Given the description of an element on the screen output the (x, y) to click on. 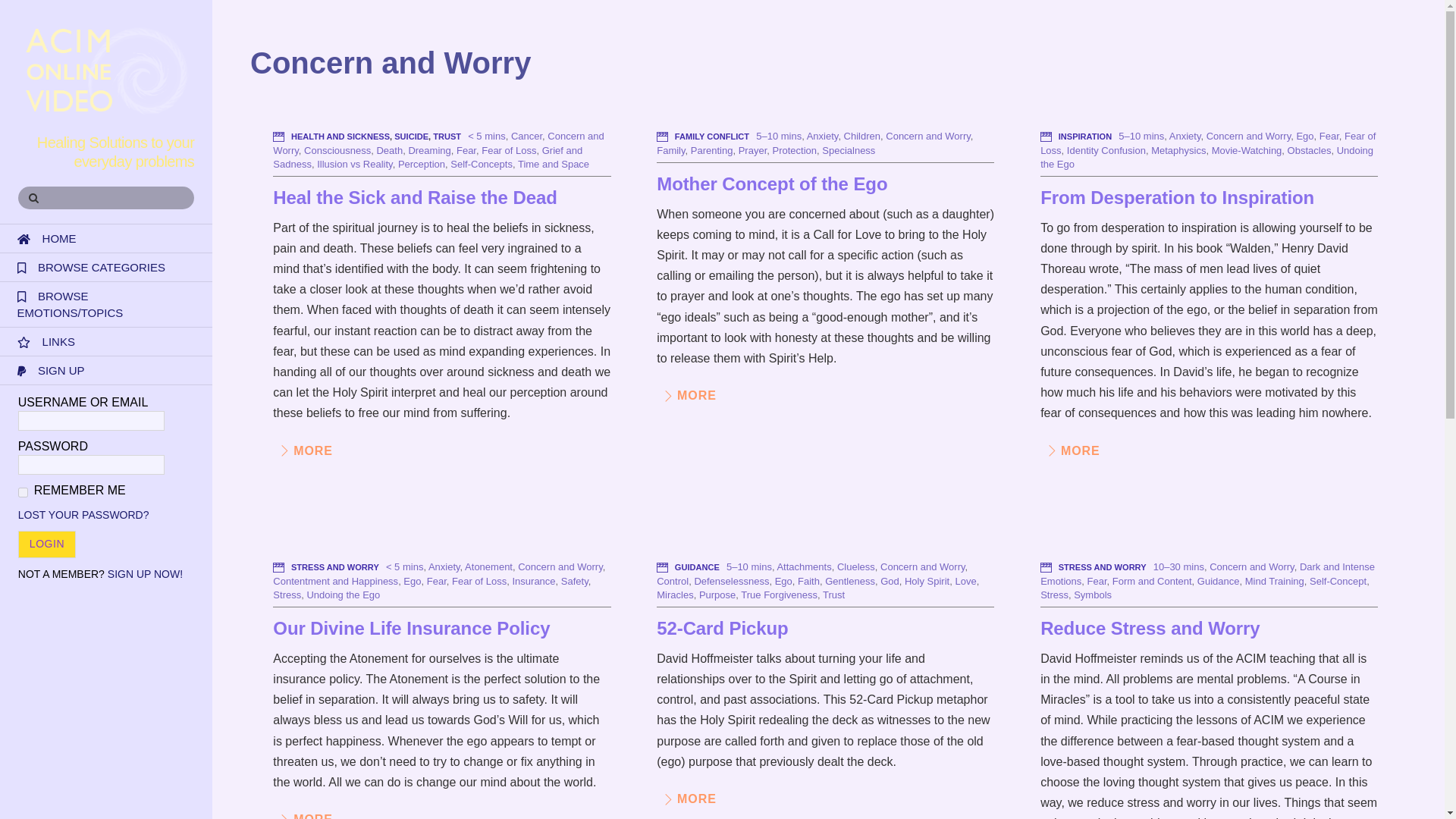
BROWSE CATEGORIES (106, 267)
Heal the Sick and Raise the Dead (414, 197)
MORE (303, 449)
Perception (421, 163)
Dreaming (428, 150)
SUICIDE (411, 135)
Login (46, 543)
Death (389, 150)
TRUST (446, 135)
Family (670, 150)
